Given the description of an element on the screen output the (x, y) to click on. 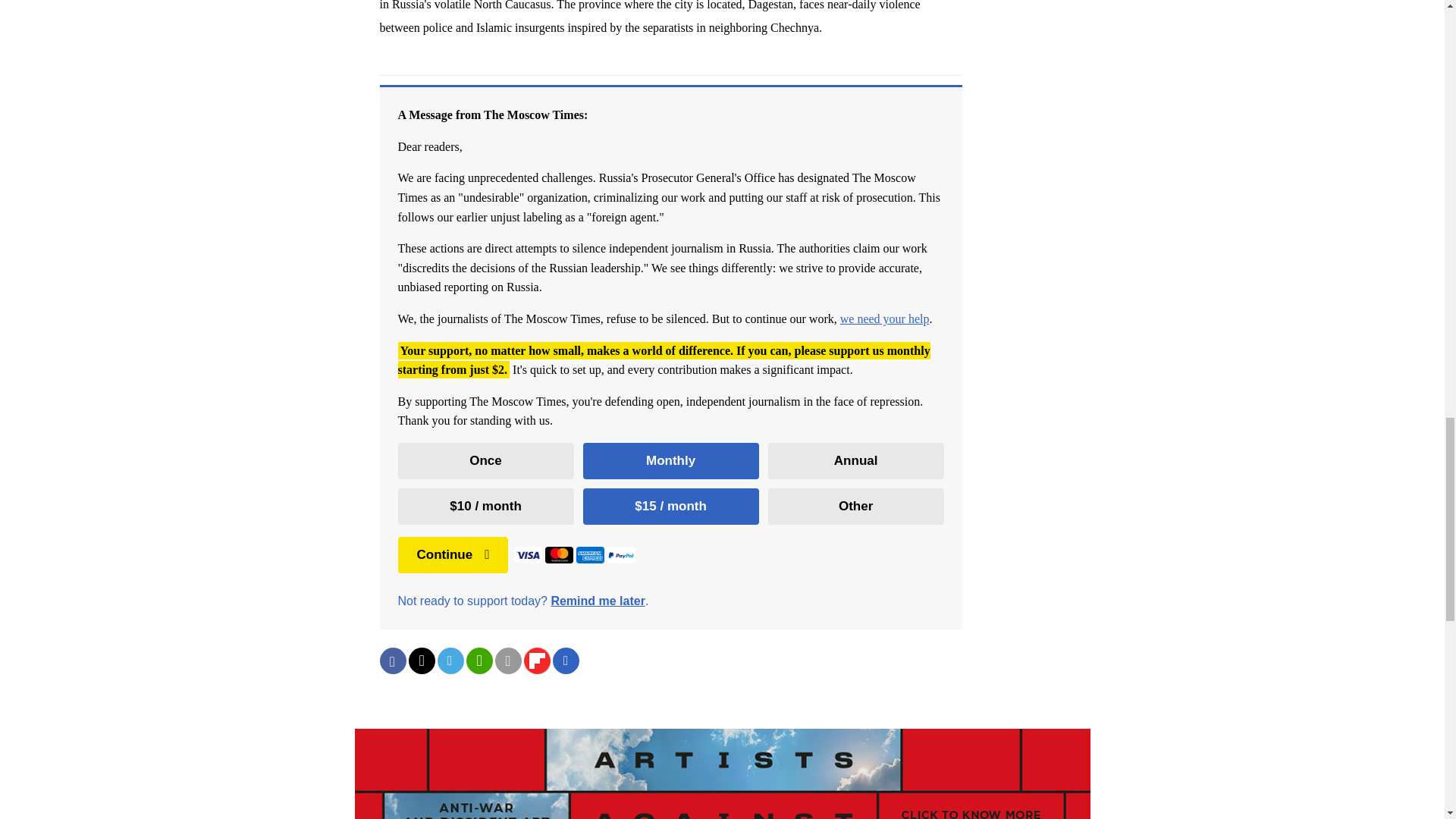
Share on Twitter (420, 660)
Share on Facebook (392, 660)
Share on Flipboard (536, 660)
Share on Telegram (449, 660)
we need your help (885, 318)
